Given the description of an element on the screen output the (x, y) to click on. 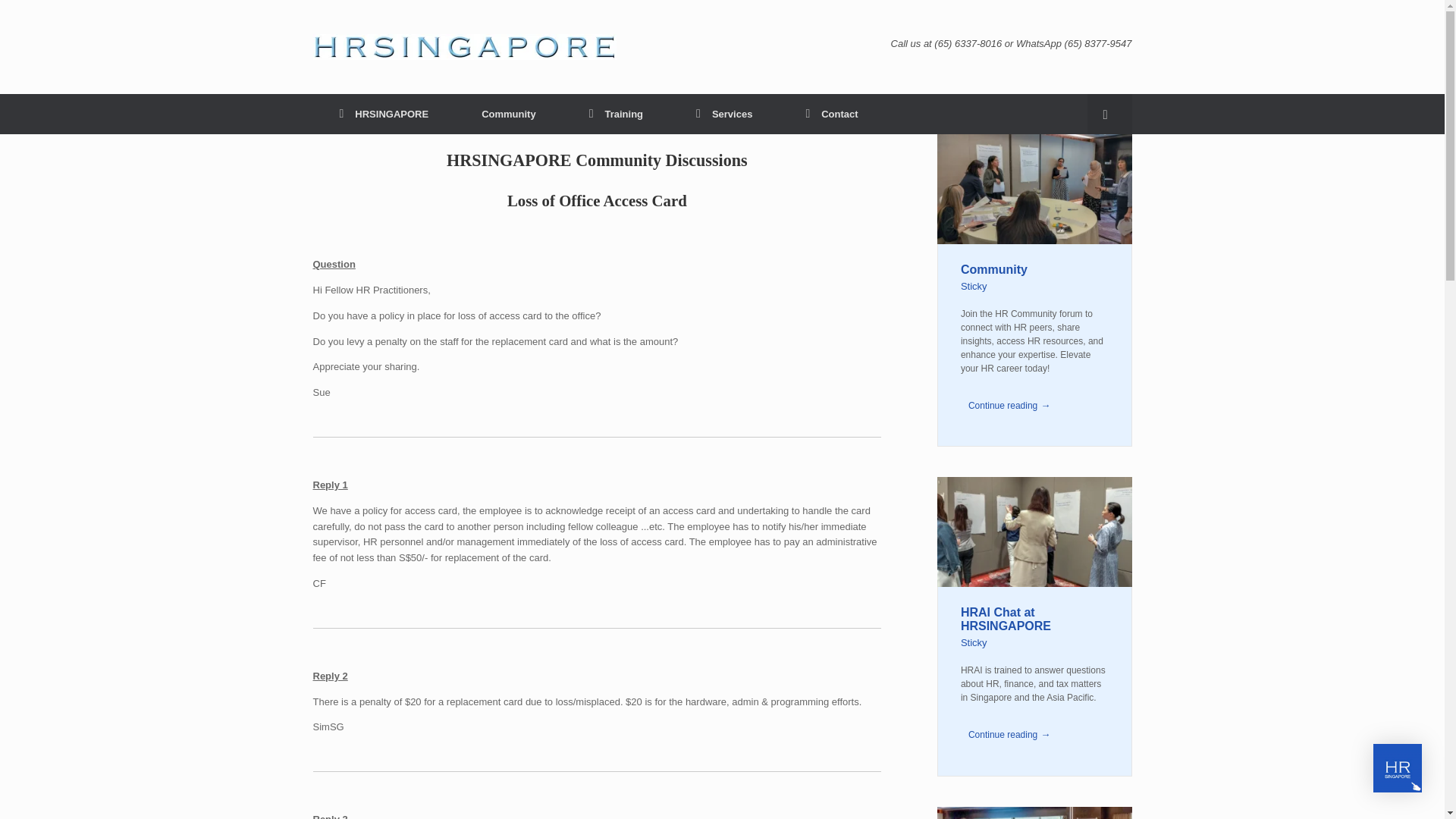
Community (508, 114)
Training (615, 114)
HRSINGAPORE (383, 114)
HRSINGAPORE (464, 46)
